Given the description of an element on the screen output the (x, y) to click on. 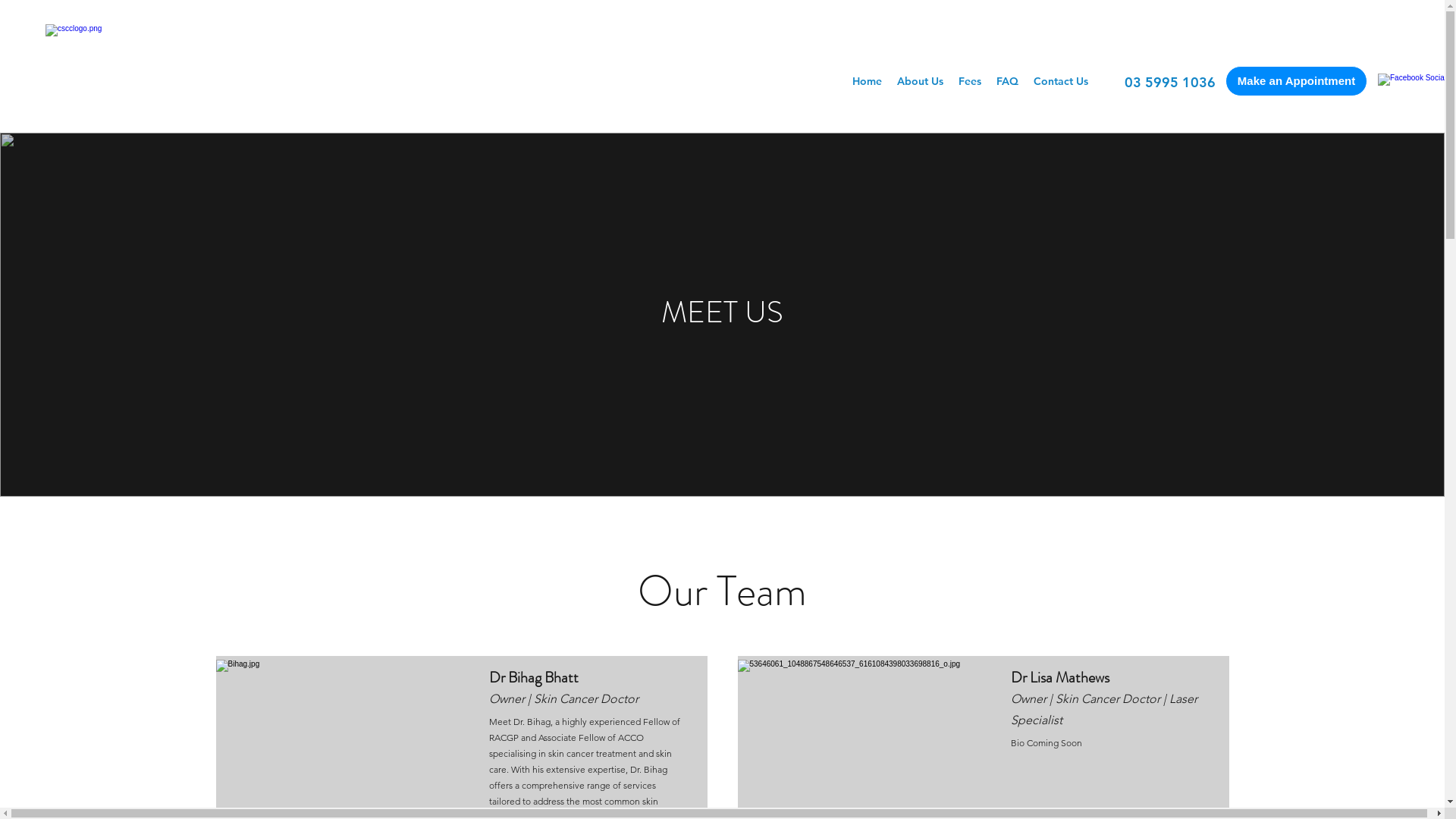
Contact Us Element type: text (1060, 80)
03 5995 1036 Element type: text (1169, 82)
Home Element type: text (866, 80)
FAQ Element type: text (1007, 80)
Make an Appointment Element type: text (1296, 80)
Fees Element type: text (969, 80)
